Given the description of an element on the screen output the (x, y) to click on. 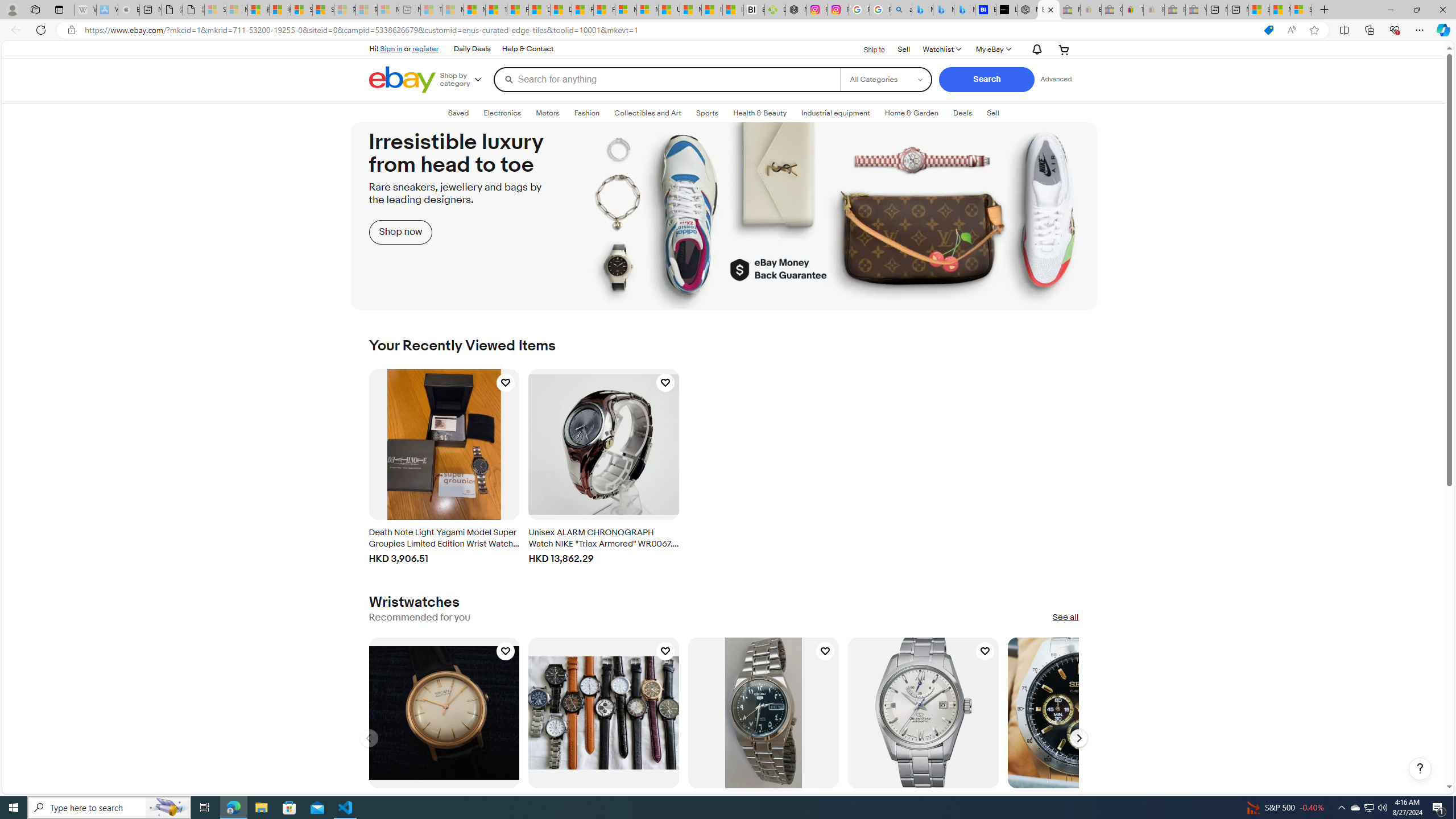
Go to the previous slide, Wristwatches - Carousel (368, 737)
Health & BeautyExpand: Health & Beauty (759, 112)
Sign in to your Microsoft account - Sleeping (215, 9)
Industrial equipmentExpand: Industrial equipment (835, 112)
Irresistible luxury from head to toe (723, 215)
US Heat Deaths Soared To Record High Last Year (668, 9)
Nordace - Nordace Edin Collection (795, 9)
My eBayExpand My eBay (992, 49)
Industrial equipment (835, 112)
See all (1065, 617)
